Given the description of an element on the screen output the (x, y) to click on. 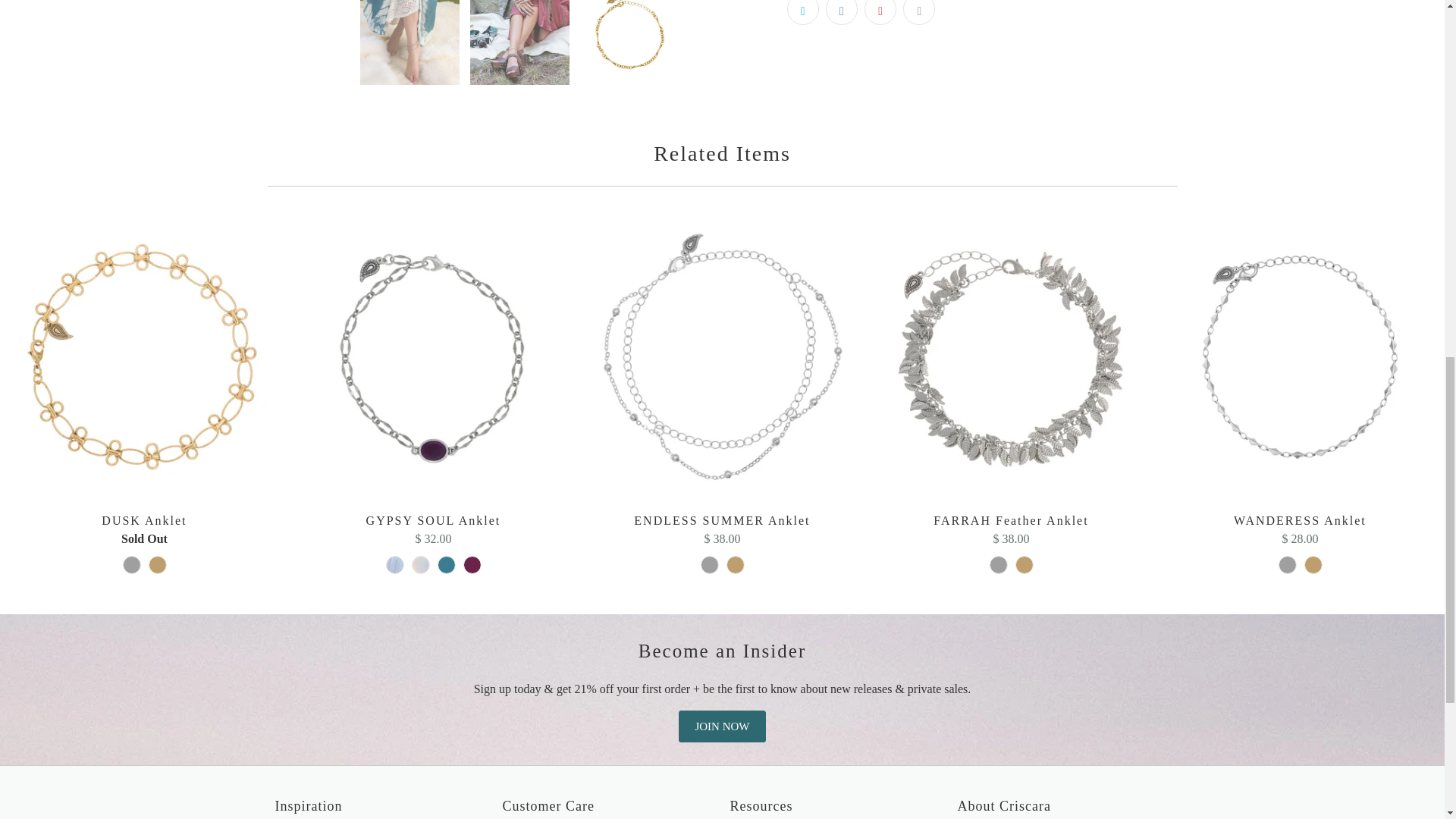
Share this on Facebook (841, 12)
Share this on Twitter (802, 12)
Share this on Pinterest (880, 12)
Email this to a friend (918, 12)
